Given the description of an element on the screen output the (x, y) to click on. 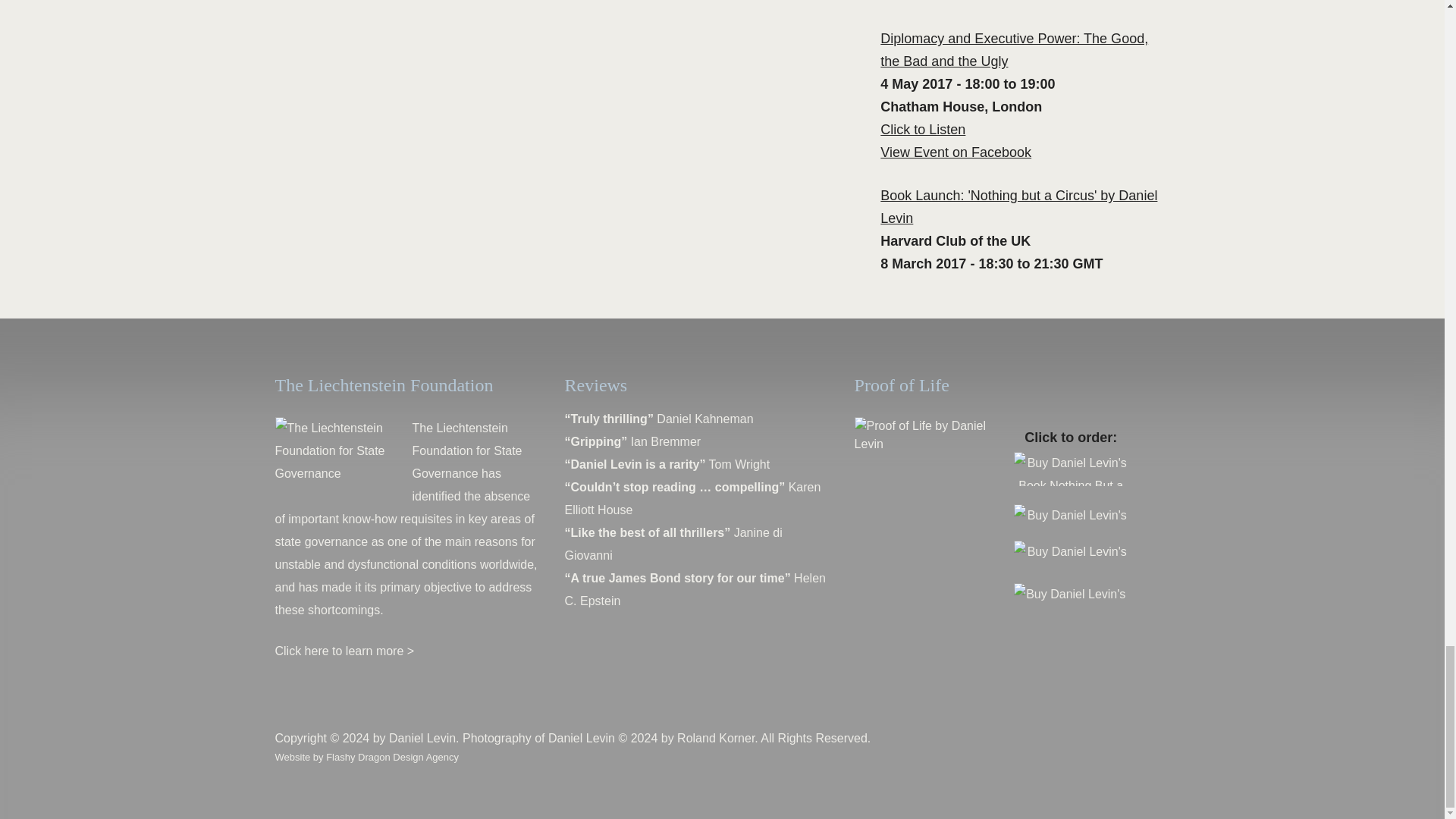
View Event on Facebook (955, 151)
Click to Listen (922, 129)
Book Launch: 'Nothing but a Circus' by Daniel Levin (1018, 207)
